Given the description of an element on the screen output the (x, y) to click on. 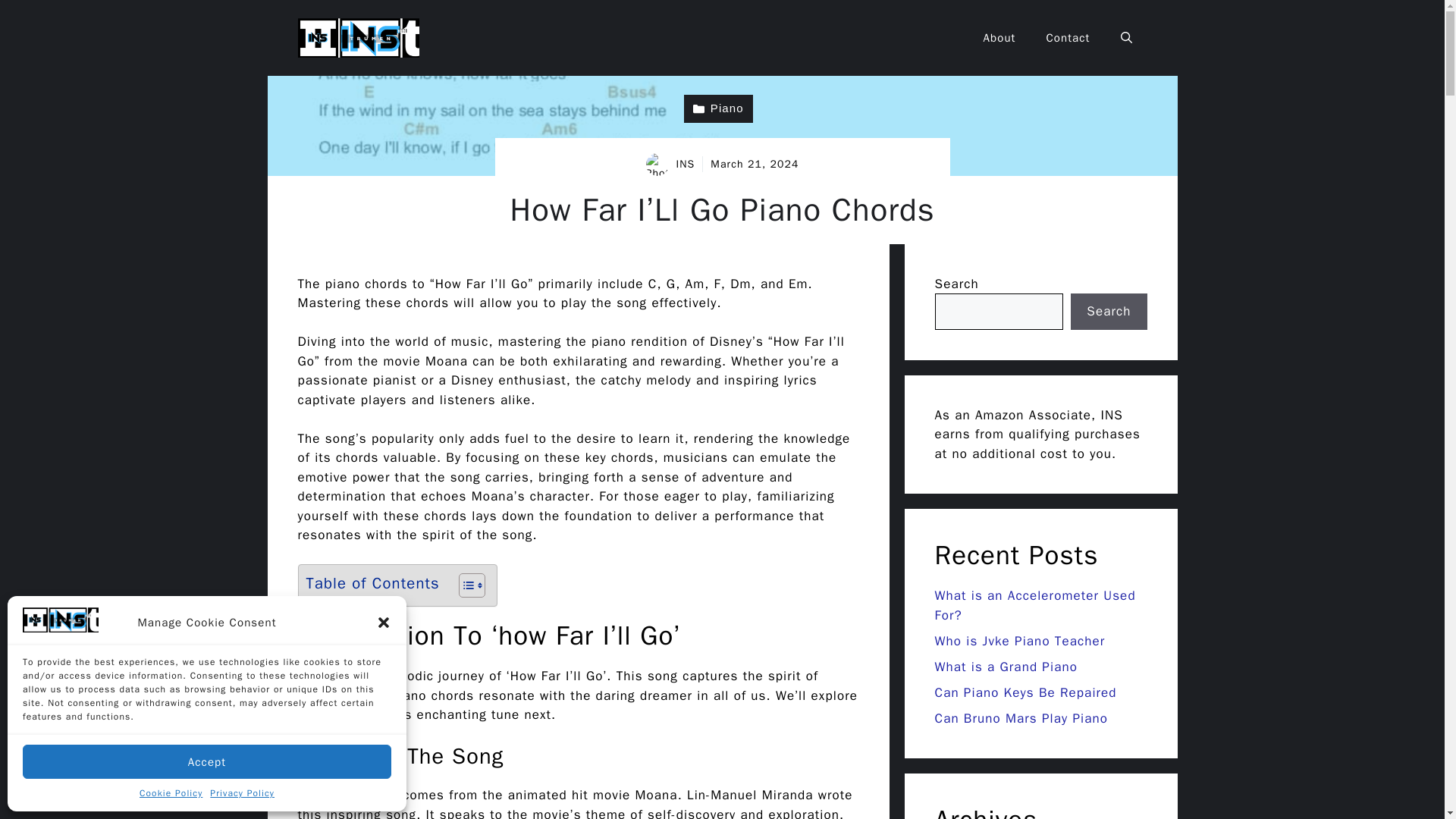
Piano (718, 108)
Cookie Policy (170, 793)
INS (686, 164)
Contact (1067, 37)
Privacy Policy (242, 793)
About (999, 37)
Accept (207, 761)
